Given the description of an element on the screen output the (x, y) to click on. 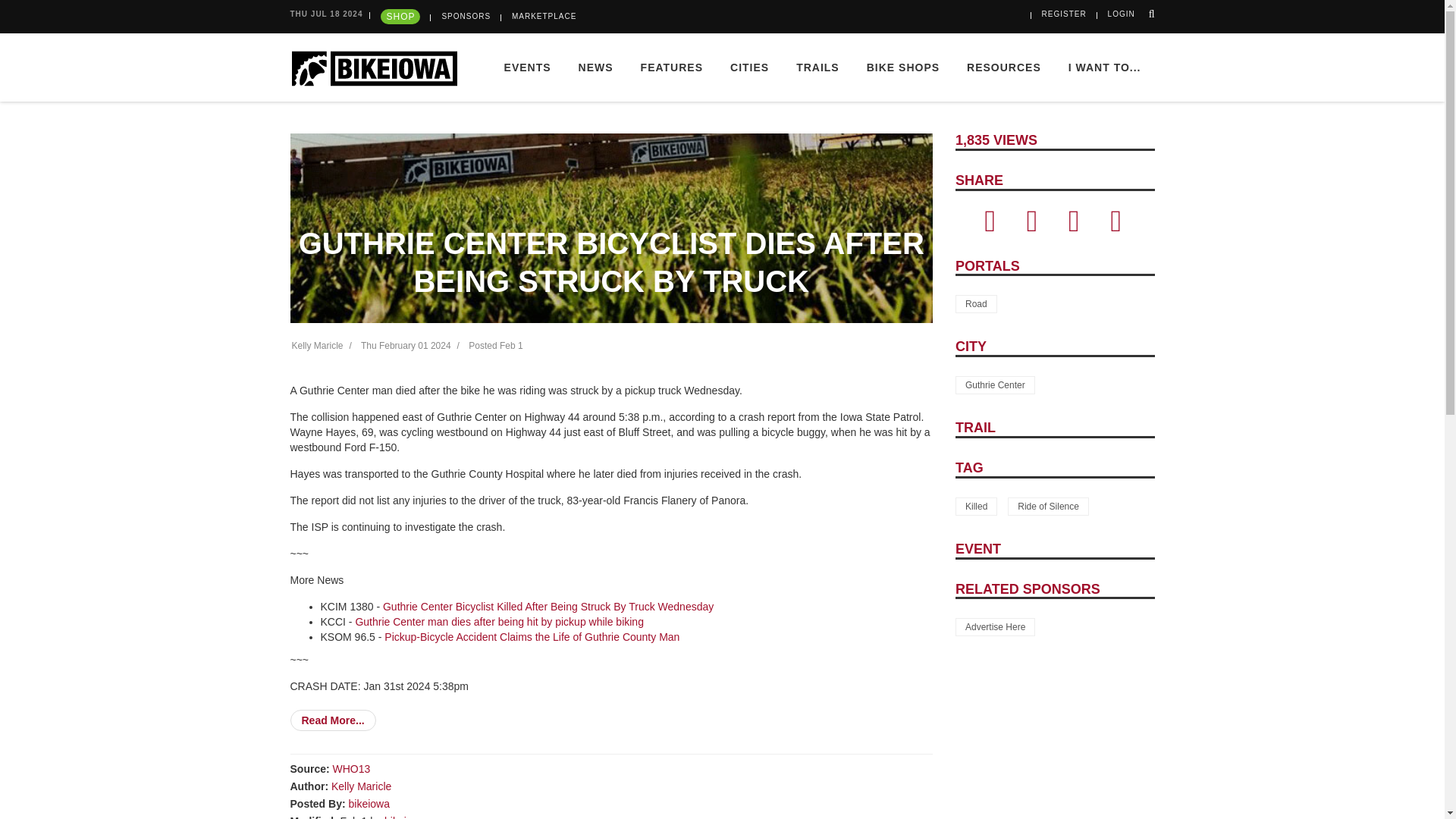
EVENTS (527, 67)
Posted Feb 1  (495, 345)
BIKE SHOPS (903, 67)
Click to Share via Twitter (1031, 227)
You can become a sponsor and be listed here (995, 627)
FEATURES (671, 67)
Click to Share via Email (1073, 227)
NEWS (595, 67)
News Date: Thu February 01 2024  (406, 345)
MARKETPLACE (544, 16)
TRAILS (818, 67)
